Given the description of an element on the screen output the (x, y) to click on. 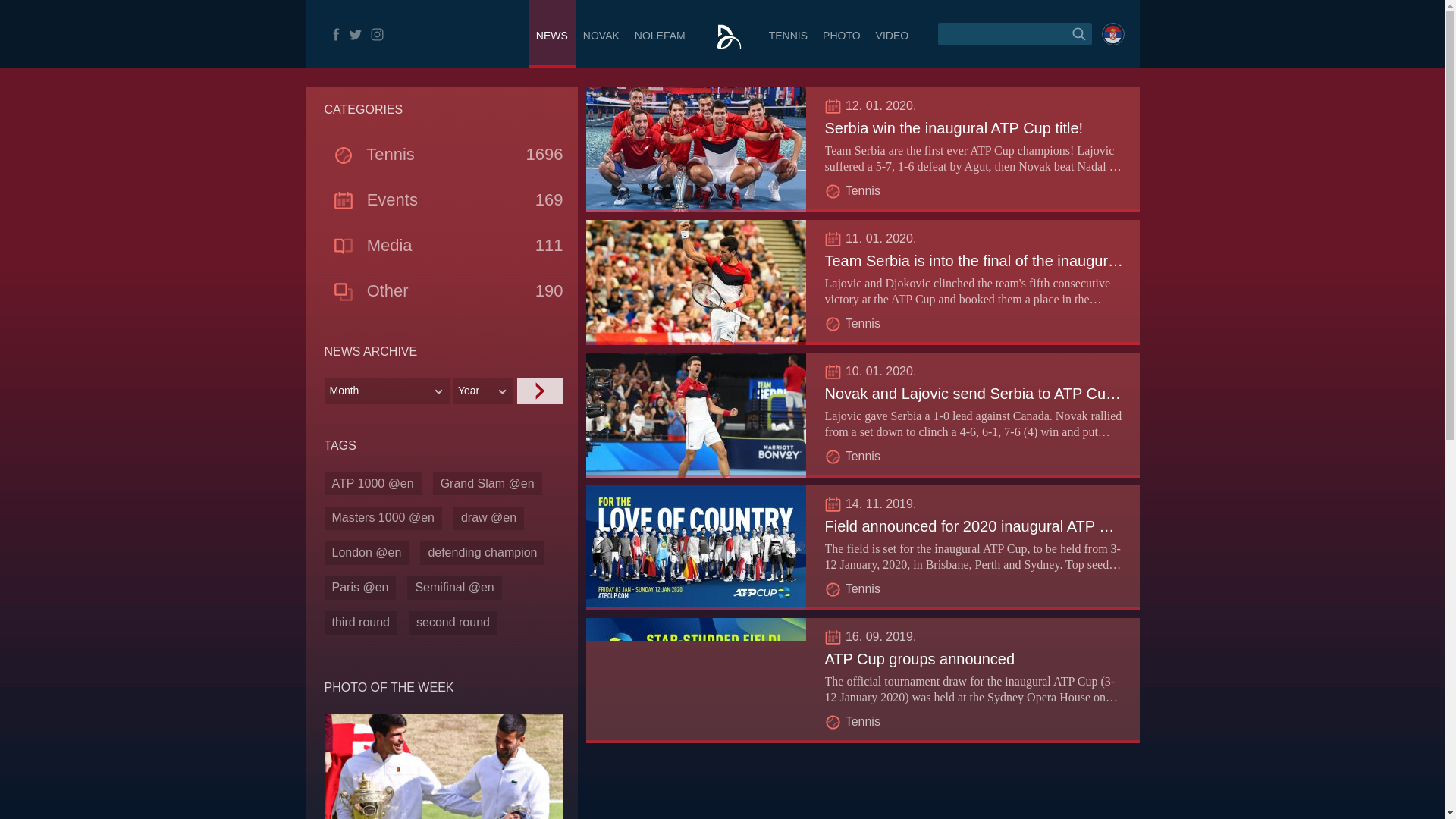
Field announced for 2020 inaugural ATP Cup in Australia (1015, 525)
View all posts filed under Tennis (862, 190)
Serbia win the inaugural ATP Cup title! (954, 127)
Tennis (862, 190)
Novak and Lajovic send Serbia to ATP Cup semis (991, 393)
Media (389, 244)
Search (21, 7)
Field announced for 2020 inaugural ATP Cup in Australia (1015, 525)
Other (387, 290)
Serbia win the inaugural ATP Cup title! (954, 127)
Team Serbia is into the final of the inaugural ATP Cup! (1006, 260)
ATP Cup groups announced (919, 658)
defending champion (482, 553)
View all posts filed under Tennis (862, 455)
View all posts filed under Tennis (862, 323)
